Given the description of an element on the screen output the (x, y) to click on. 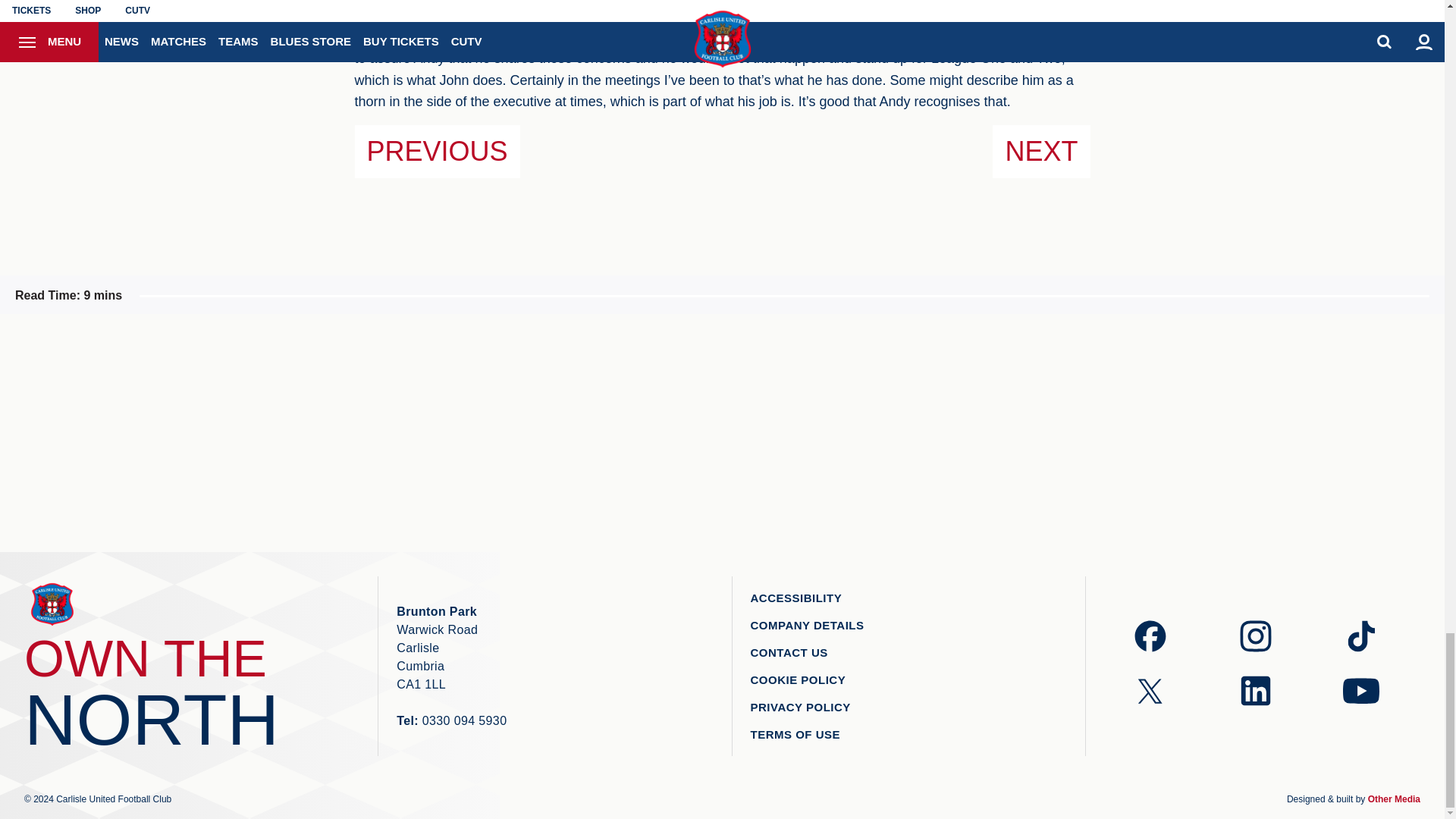
3rd party ad content (469, 432)
3rd party ad content (721, 432)
3rd party ad content (973, 432)
